Given the description of an element on the screen output the (x, y) to click on. 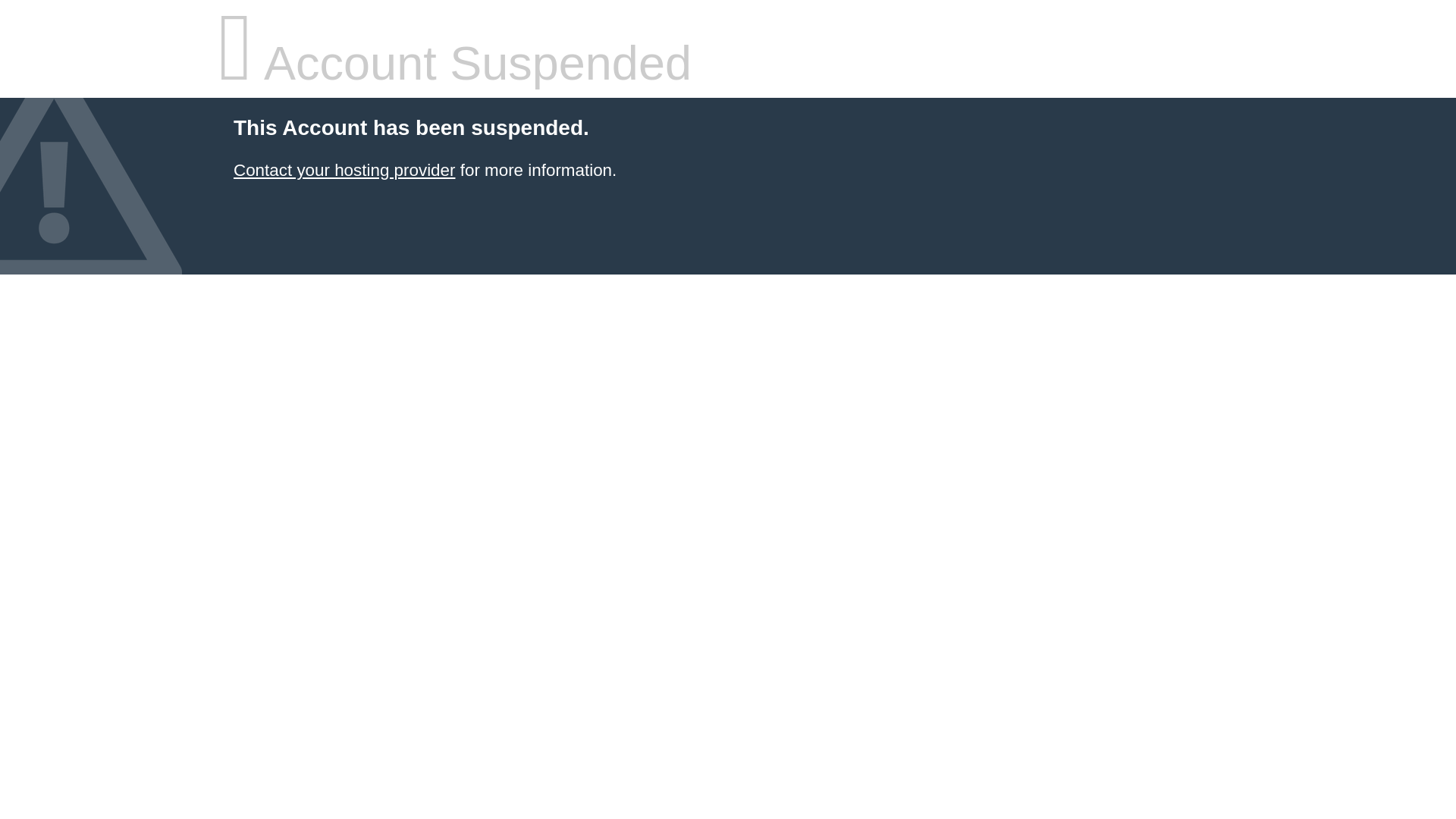
Contact your hosting provider (343, 169)
